Given the description of an element on the screen output the (x, y) to click on. 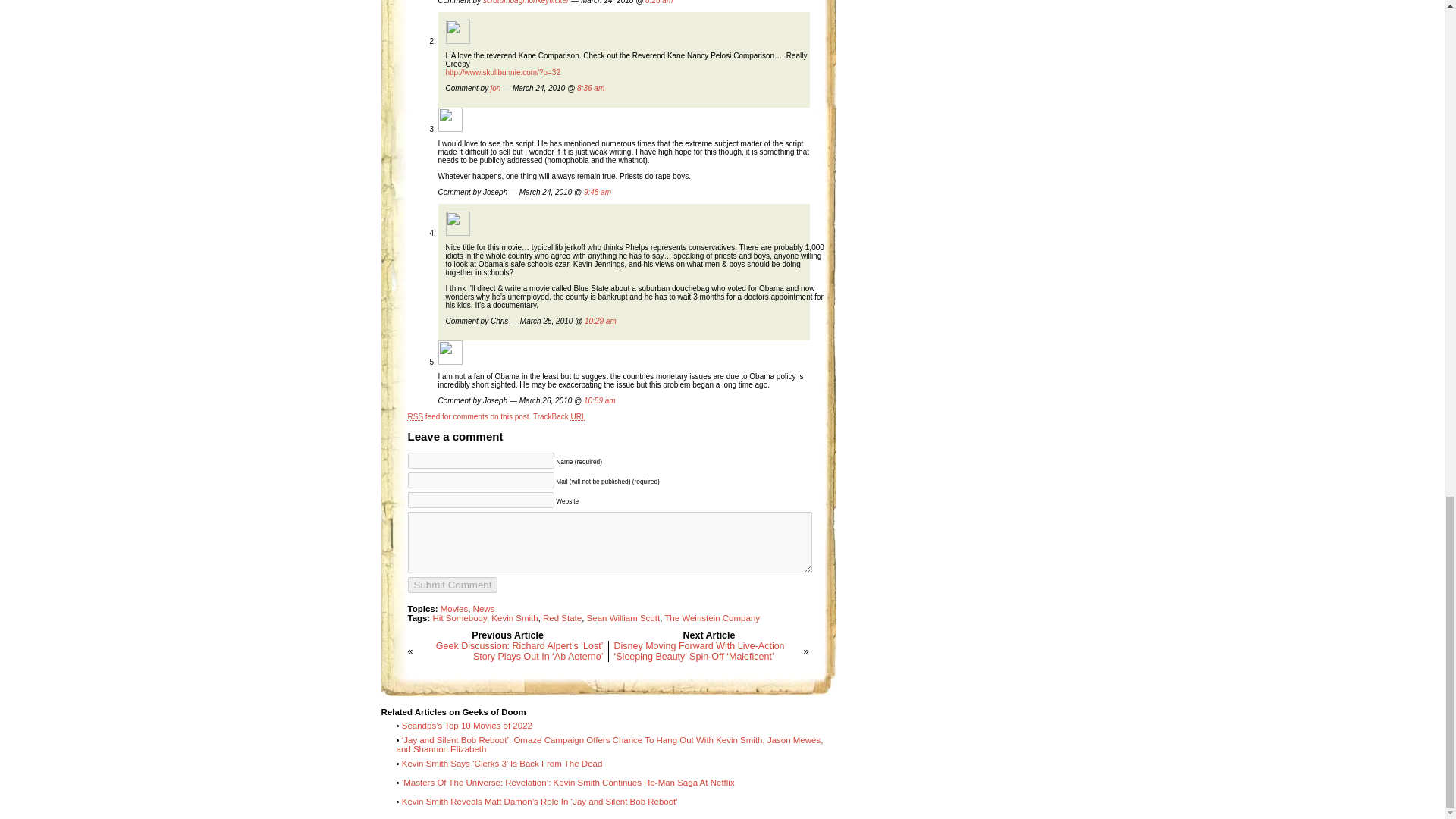
scrotumbagmonkeyflicker (526, 2)
10:29 am (600, 320)
Submit Comment (452, 584)
10:59 am (599, 400)
Red State (561, 617)
Hit Somebody (459, 617)
jon (495, 88)
TrackBack URL (559, 416)
8:36 am (590, 88)
RSS feed for comments on this post. (469, 416)
